Given the description of an element on the screen output the (x, y) to click on. 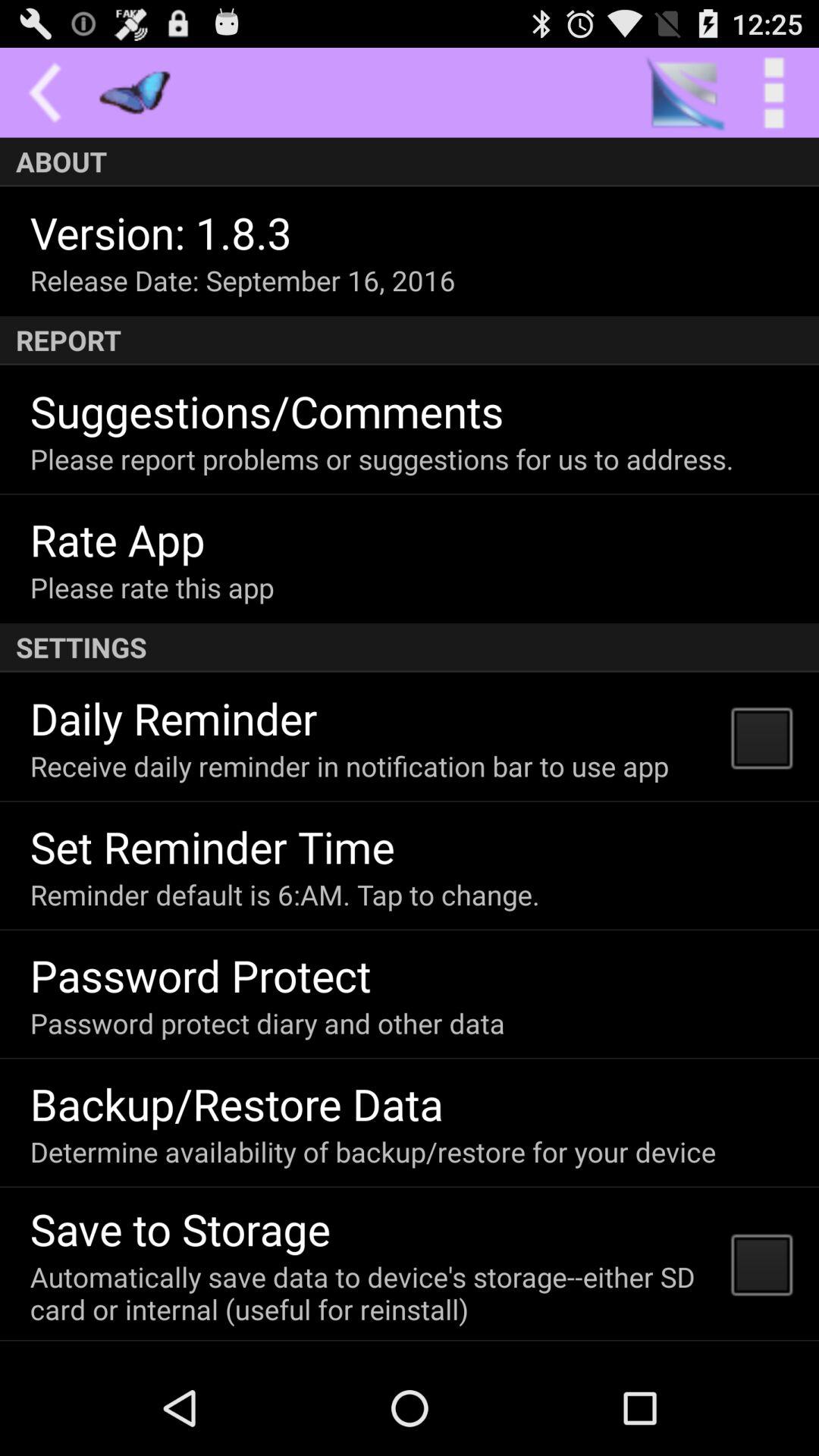
swipe until version 1 8 item (160, 232)
